Given the description of an element on the screen output the (x, y) to click on. 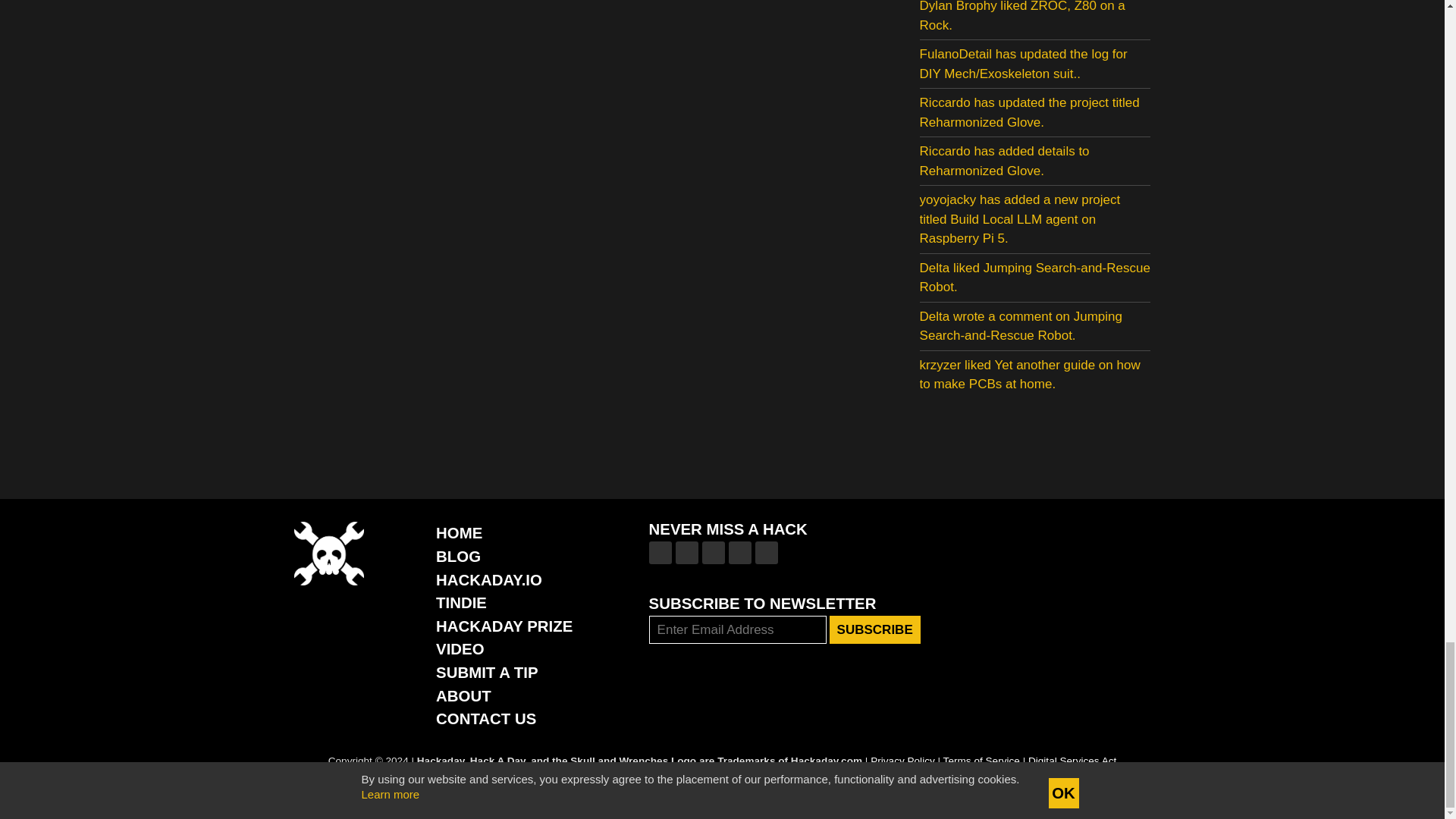
Build Something that Matters (503, 626)
Subscribe (874, 629)
